Given the description of an element on the screen output the (x, y) to click on. 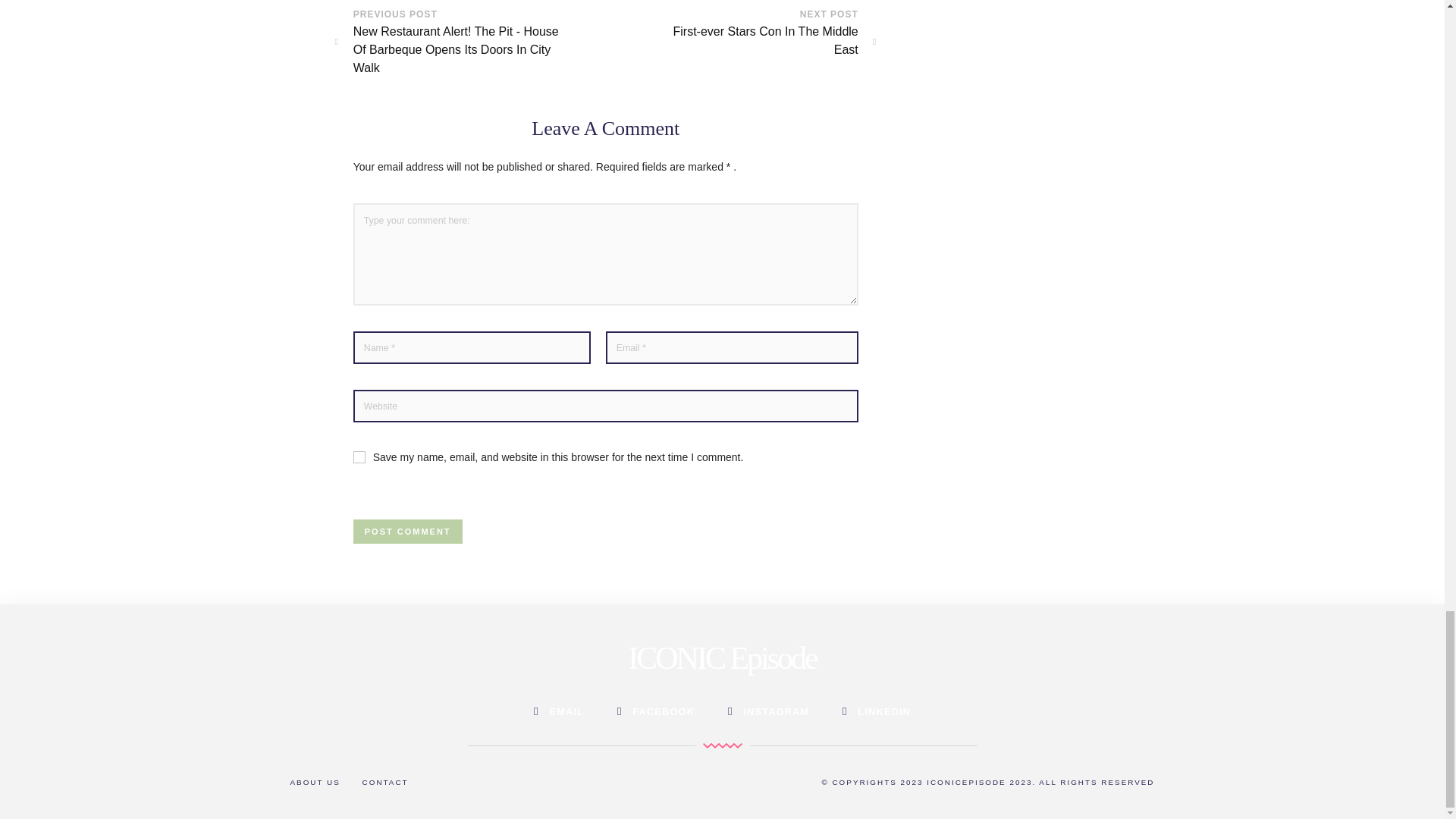
yes (359, 457)
Post Comment (408, 531)
Post Comment (408, 531)
